Given the description of an element on the screen output the (x, y) to click on. 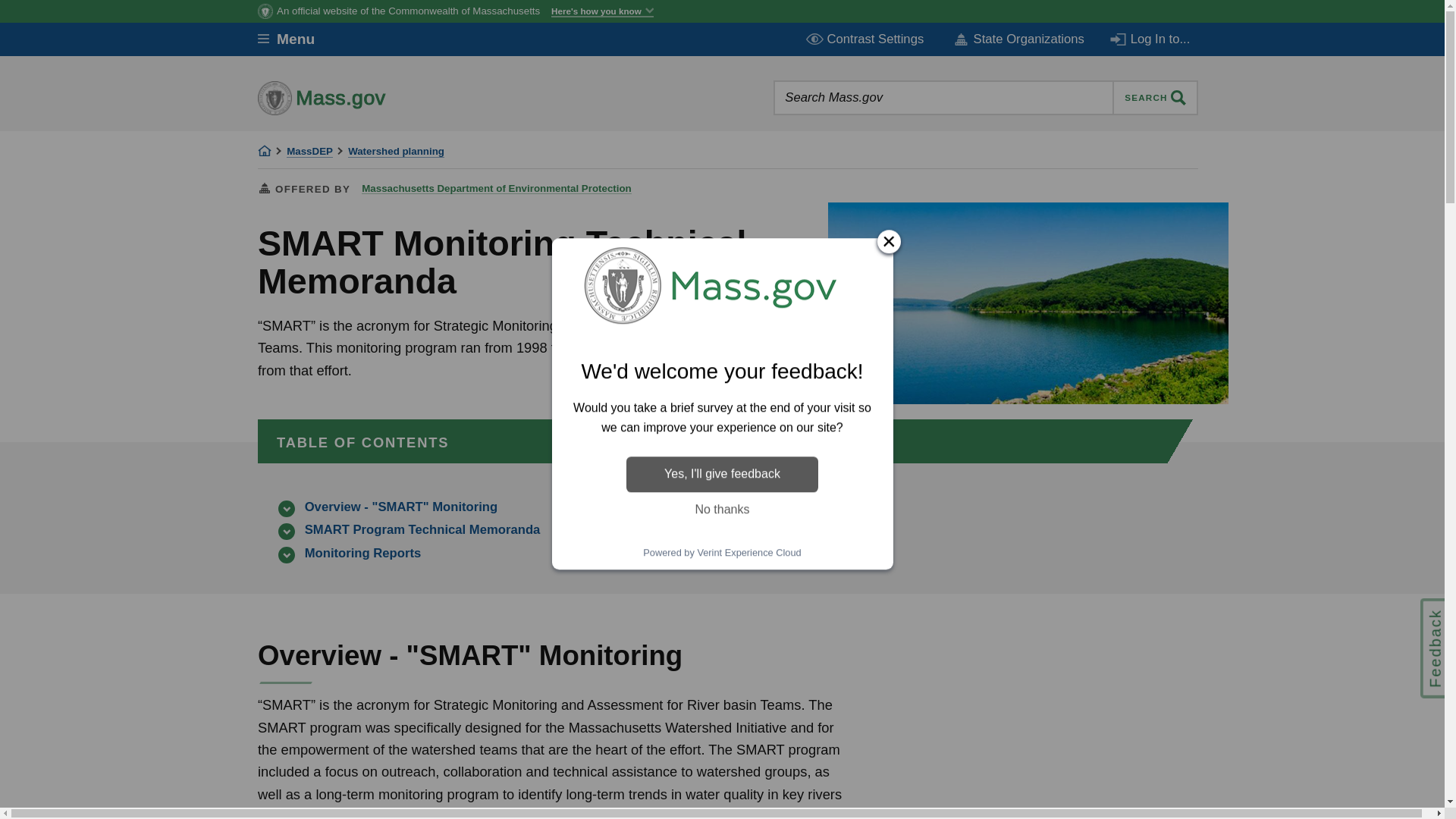
Menu (297, 39)
Log In to... (1151, 38)
State Organizations (1018, 39)
Contrast Settings (866, 38)
Mass.gov home page (369, 97)
